Given the description of an element on the screen output the (x, y) to click on. 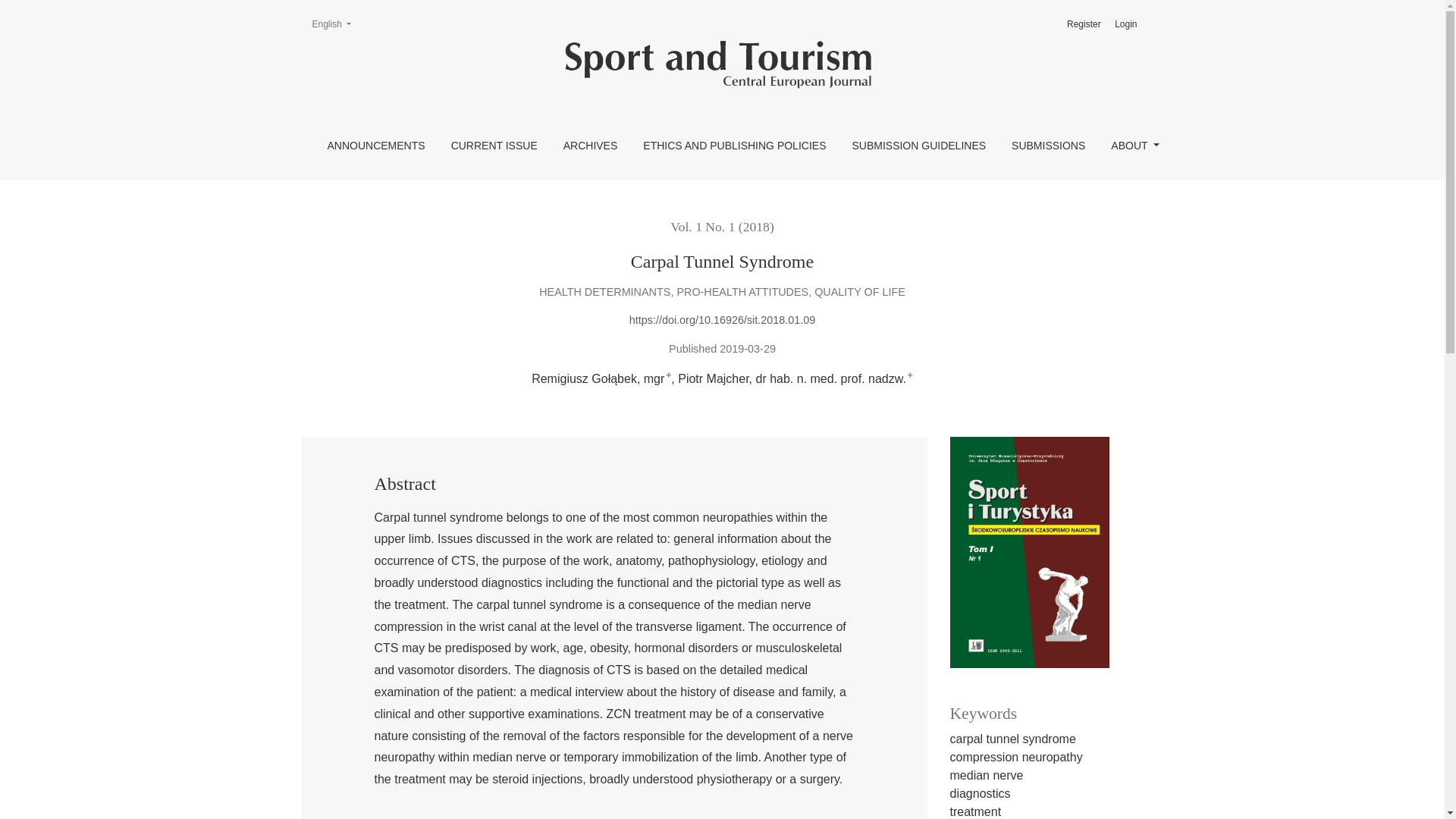
ANNOUNCEMENTS (376, 145)
Register (331, 24)
ARCHIVES (1083, 24)
CURRENT ISSUE (590, 145)
SUBMISSION GUIDELINES (494, 145)
ABOUT (918, 145)
SUBMISSIONS (1134, 145)
Login (1047, 145)
ETHICS AND PUBLISHING POLICIES (1125, 24)
